Given the description of an element on the screen output the (x, y) to click on. 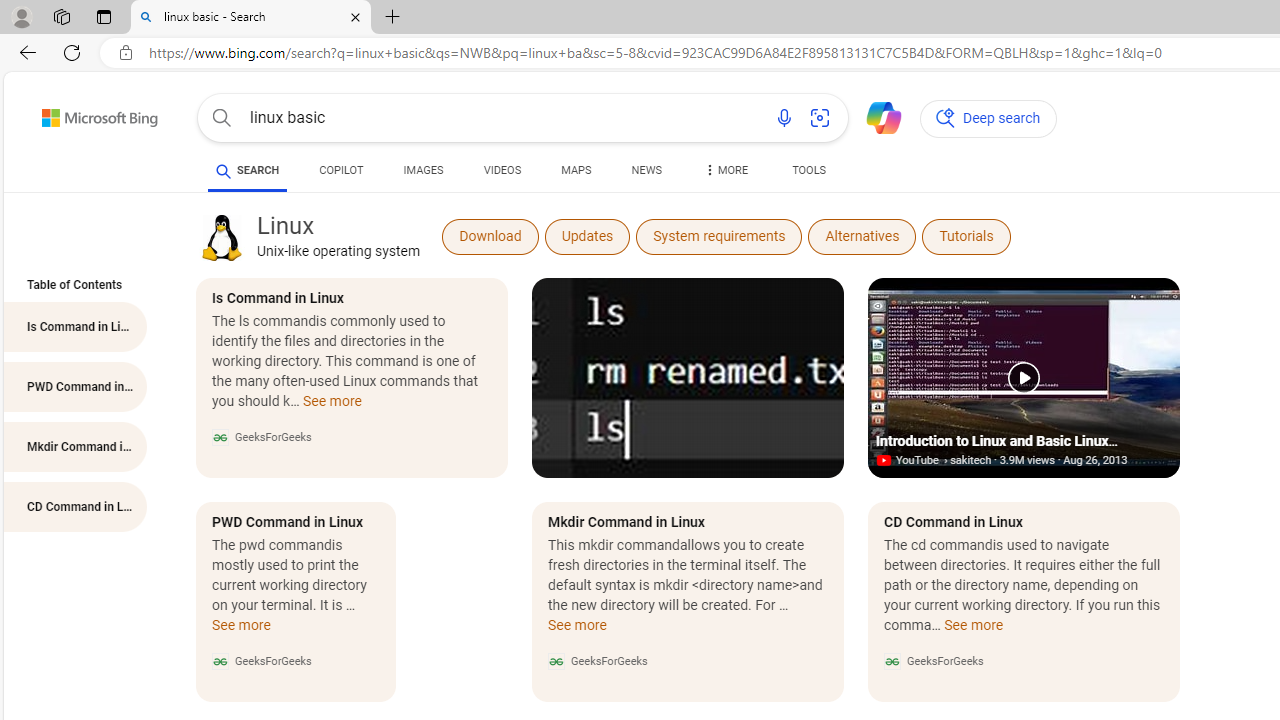
linux basic - Search (250, 17)
